Given the description of an element on the screen output the (x, y) to click on. 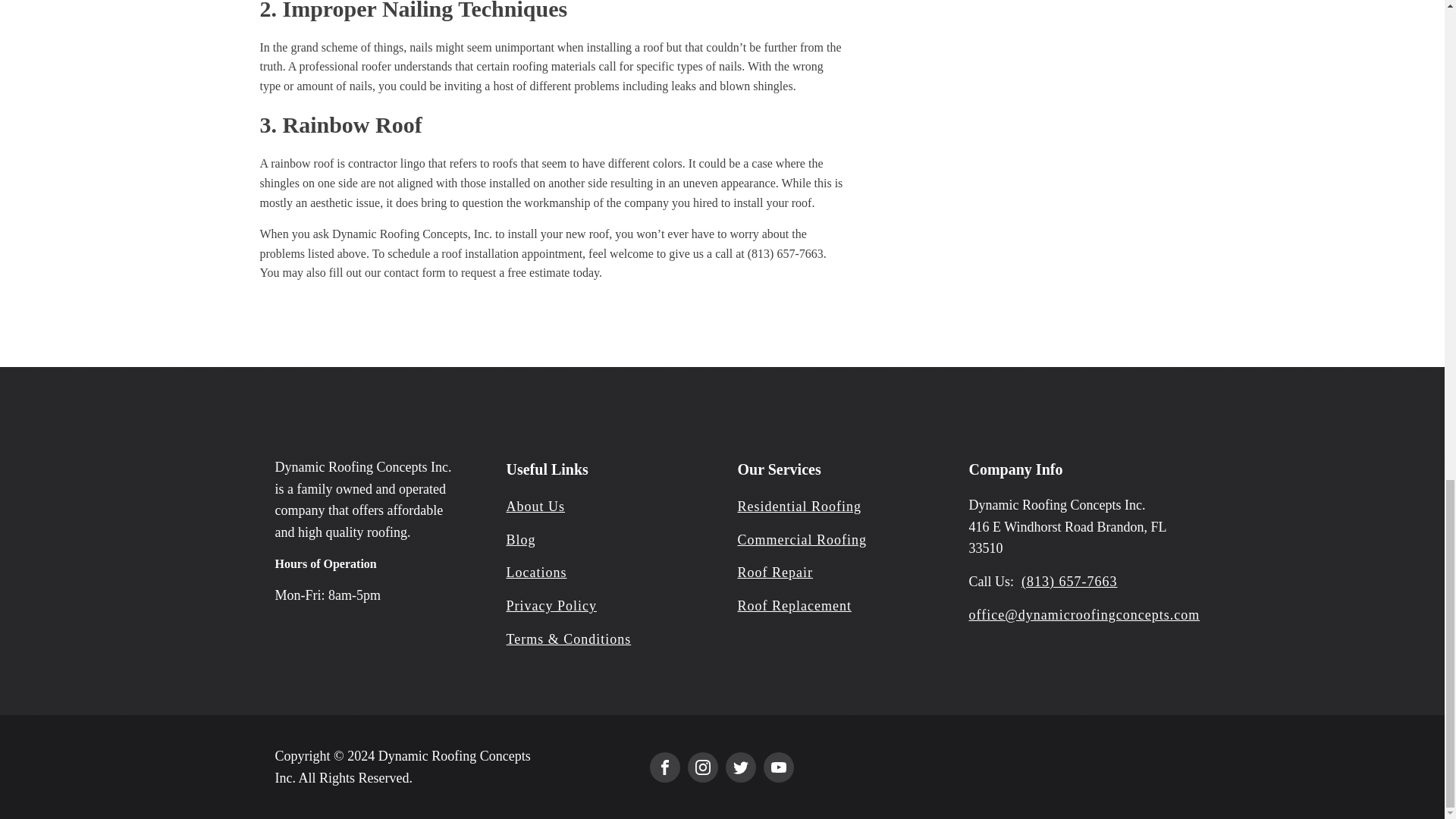
About Us (536, 506)
Privacy Policy (551, 606)
Residential Roofing (798, 506)
Blog (520, 540)
Locations (536, 572)
